Given the description of an element on the screen output the (x, y) to click on. 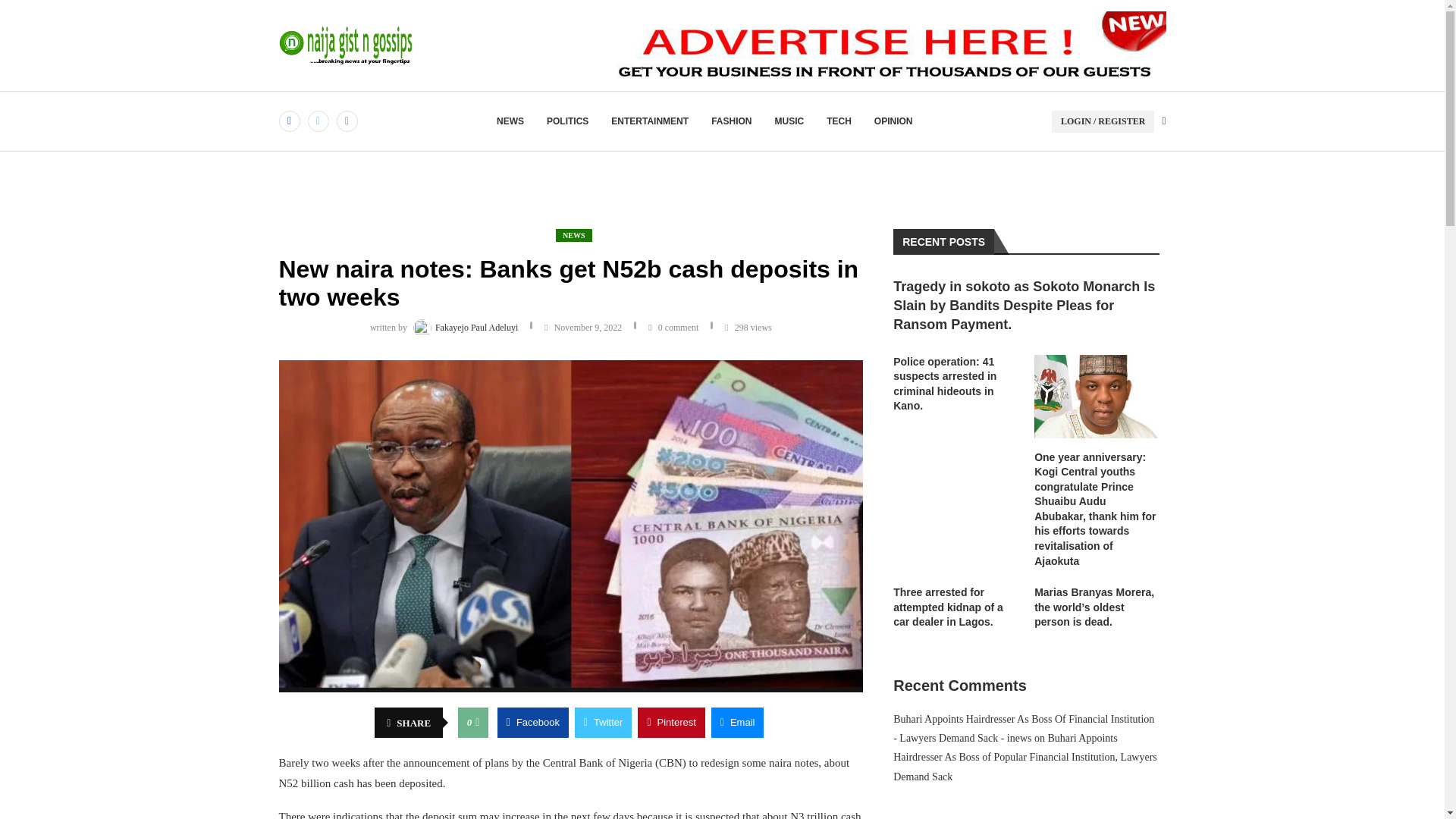
POLITICS (567, 121)
NEWS (509, 121)
ENTERTAINMENT (649, 121)
FASHION (731, 121)
OPINION (893, 121)
MUSIC (788, 121)
TECH (839, 121)
